Given the description of an element on the screen output the (x, y) to click on. 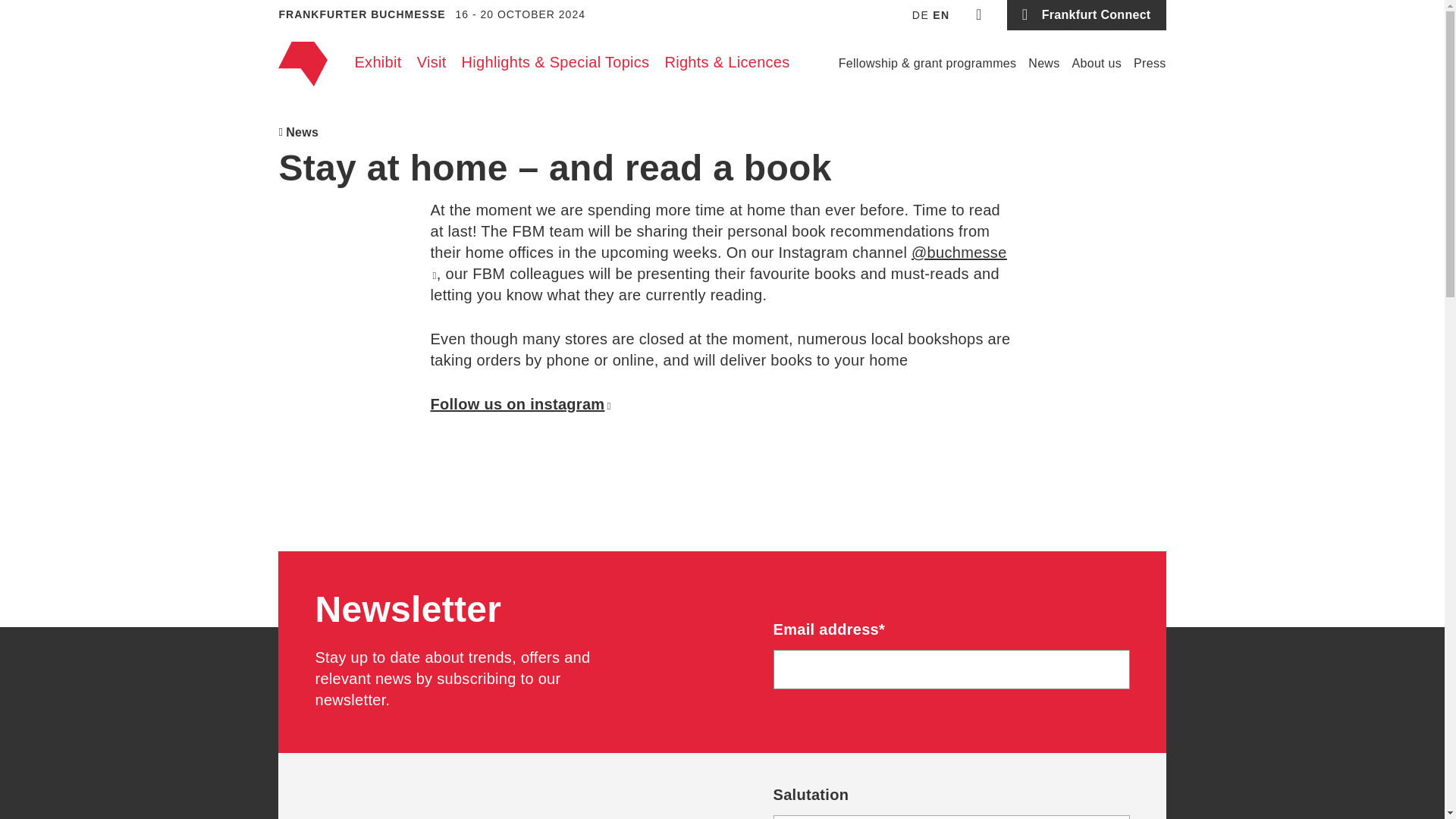
Press (1150, 63)
EN (941, 14)
Buchmesse (302, 63)
About us (1096, 63)
Frankfurt Connect (1086, 15)
News (298, 132)
Search (978, 15)
News (1043, 63)
Skip to main content (721, 5)
DE (920, 14)
